Given the description of an element on the screen output the (x, y) to click on. 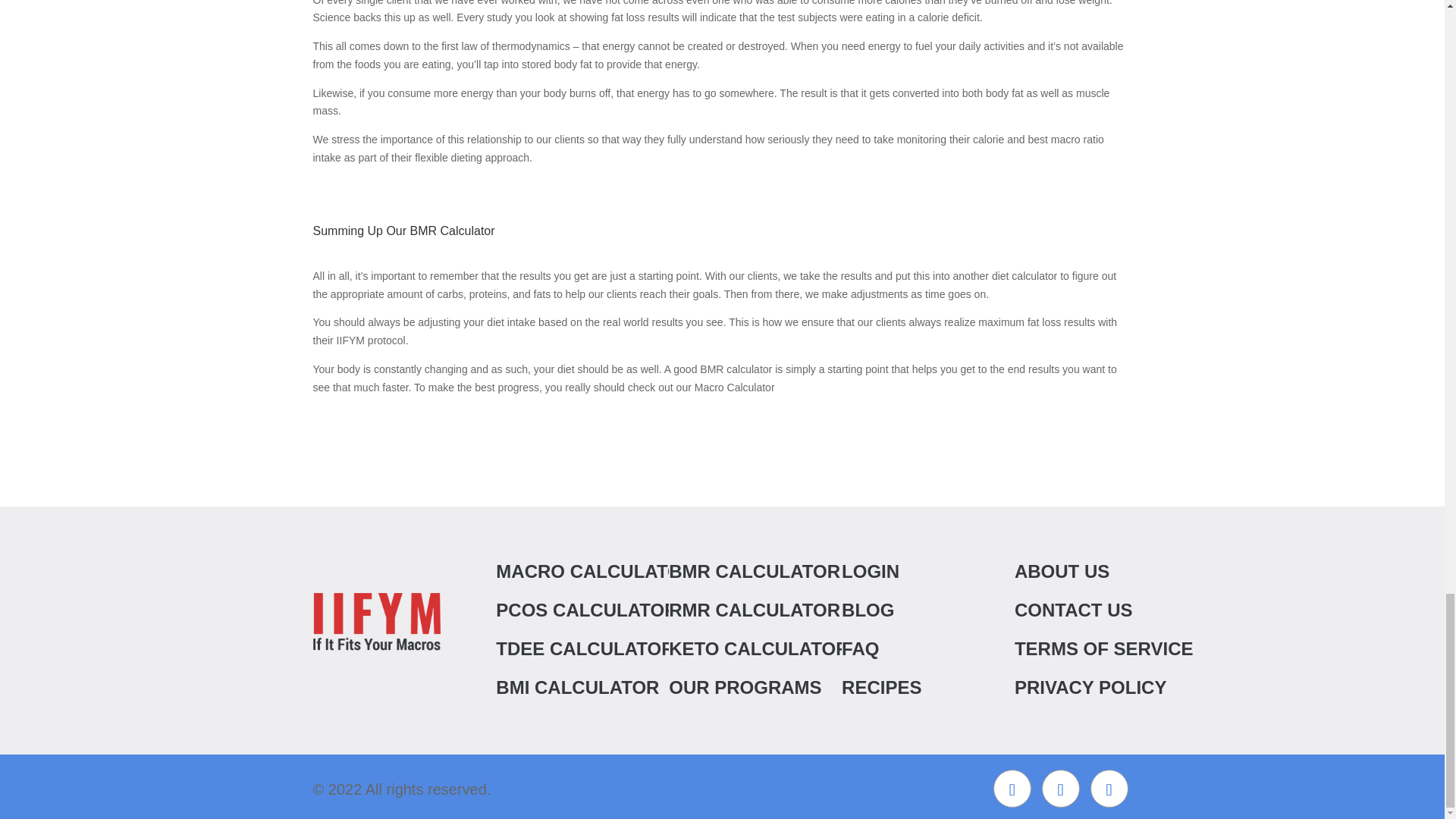
RECIPES (950, 687)
BMI CALCULATOR (605, 687)
ABOUT US (1123, 571)
PRIVACY POLICY (1123, 687)
FAQ (950, 648)
PCOS CALCULATOR (605, 610)
CONTACT US (1123, 610)
IIFYM logo (376, 621)
KETO CALCULATOR (777, 648)
LOGIN (950, 571)
